Given the description of an element on the screen output the (x, y) to click on. 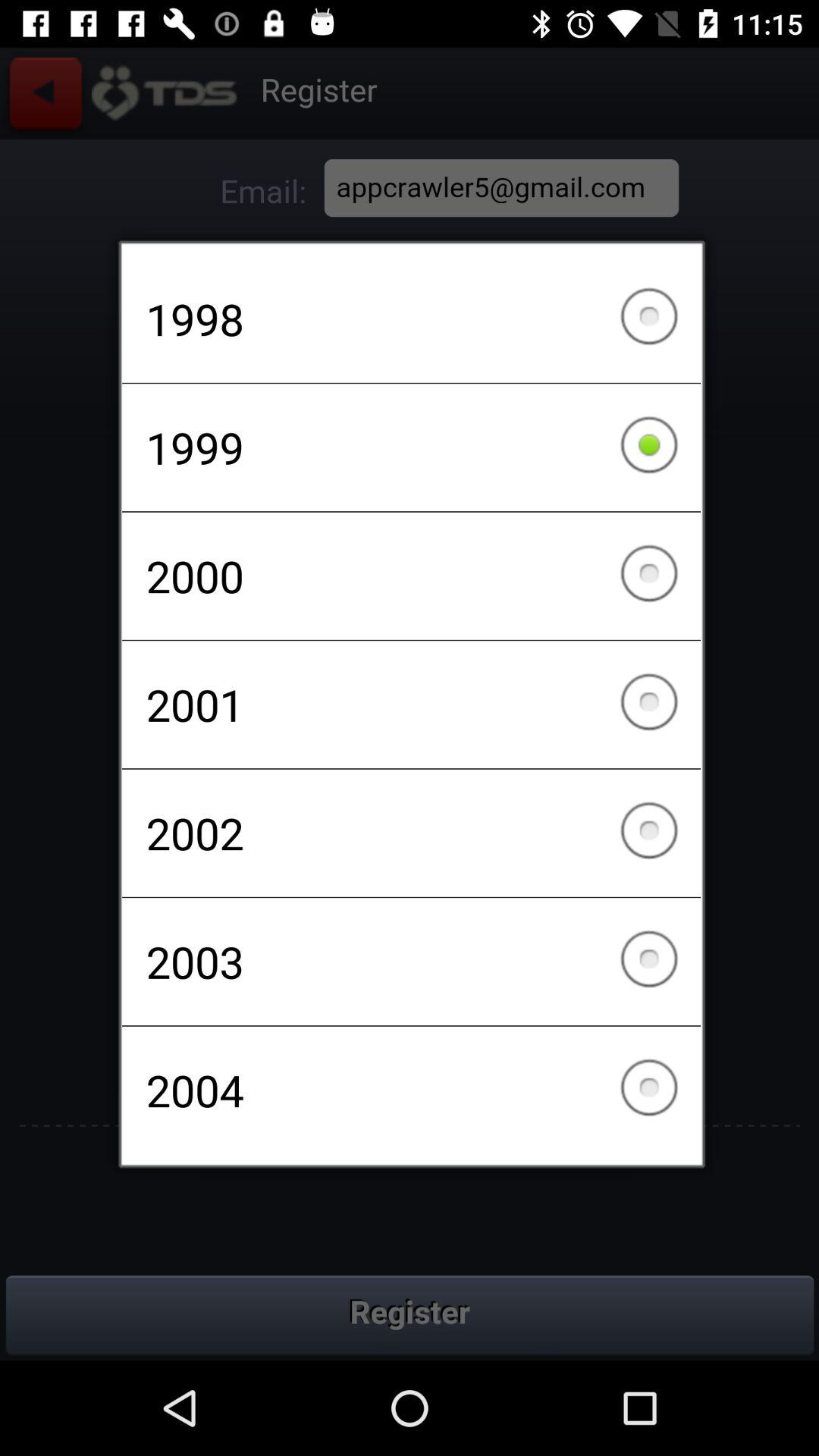
turn on the 2002 item (411, 832)
